Given the description of an element on the screen output the (x, y) to click on. 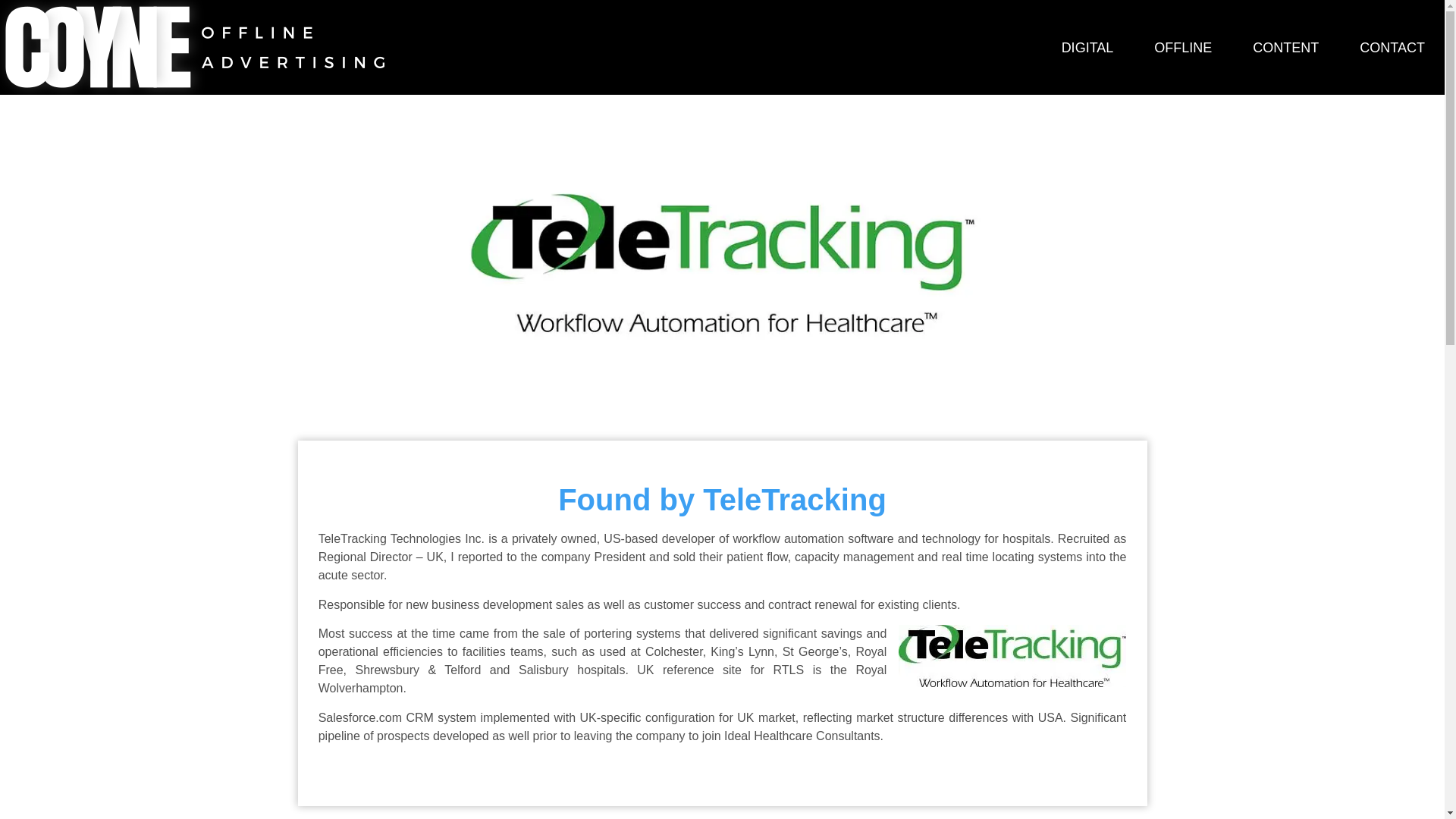
DIGITAL (1088, 46)
CONTENT (1285, 46)
OFFLINE (1182, 46)
